Given the description of an element on the screen output the (x, y) to click on. 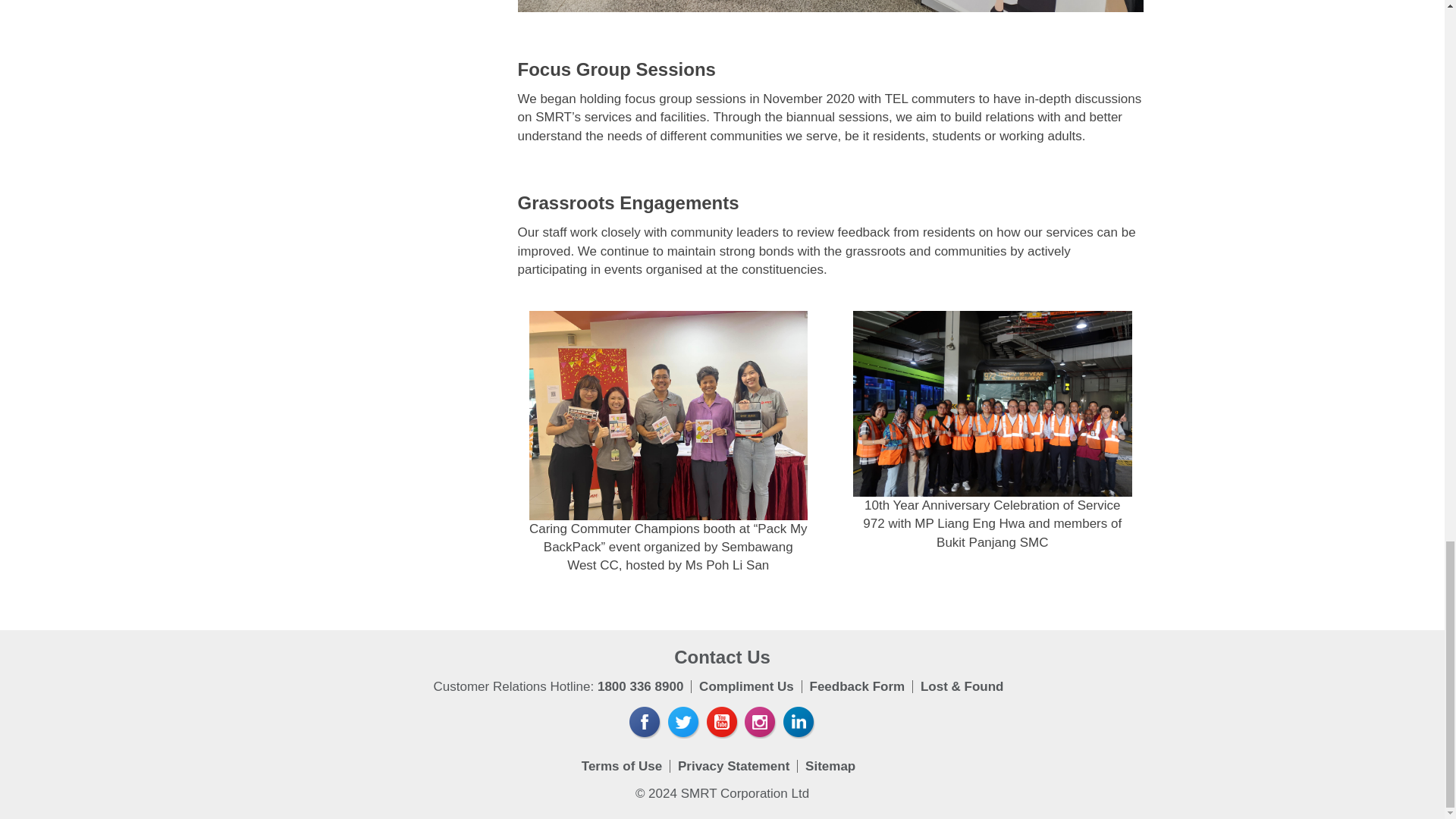
Sembawang West CC (668, 415)
972 Anniversary Celebration (992, 403)
